Given the description of an element on the screen output the (x, y) to click on. 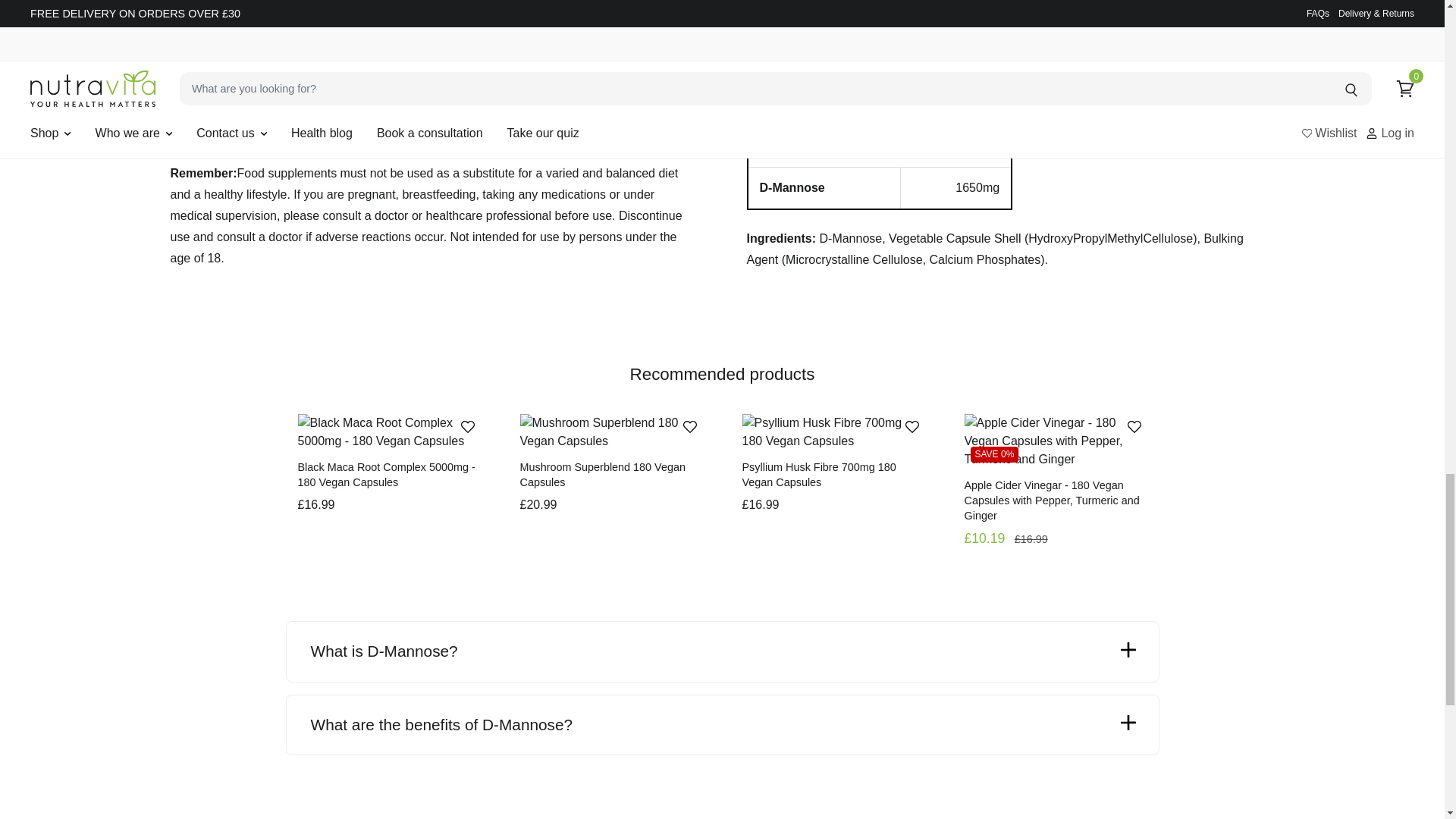
Black Maca Root Complex 5000mg - 180 Vegan Capsules (388, 432)
